Given the description of an element on the screen output the (x, y) to click on. 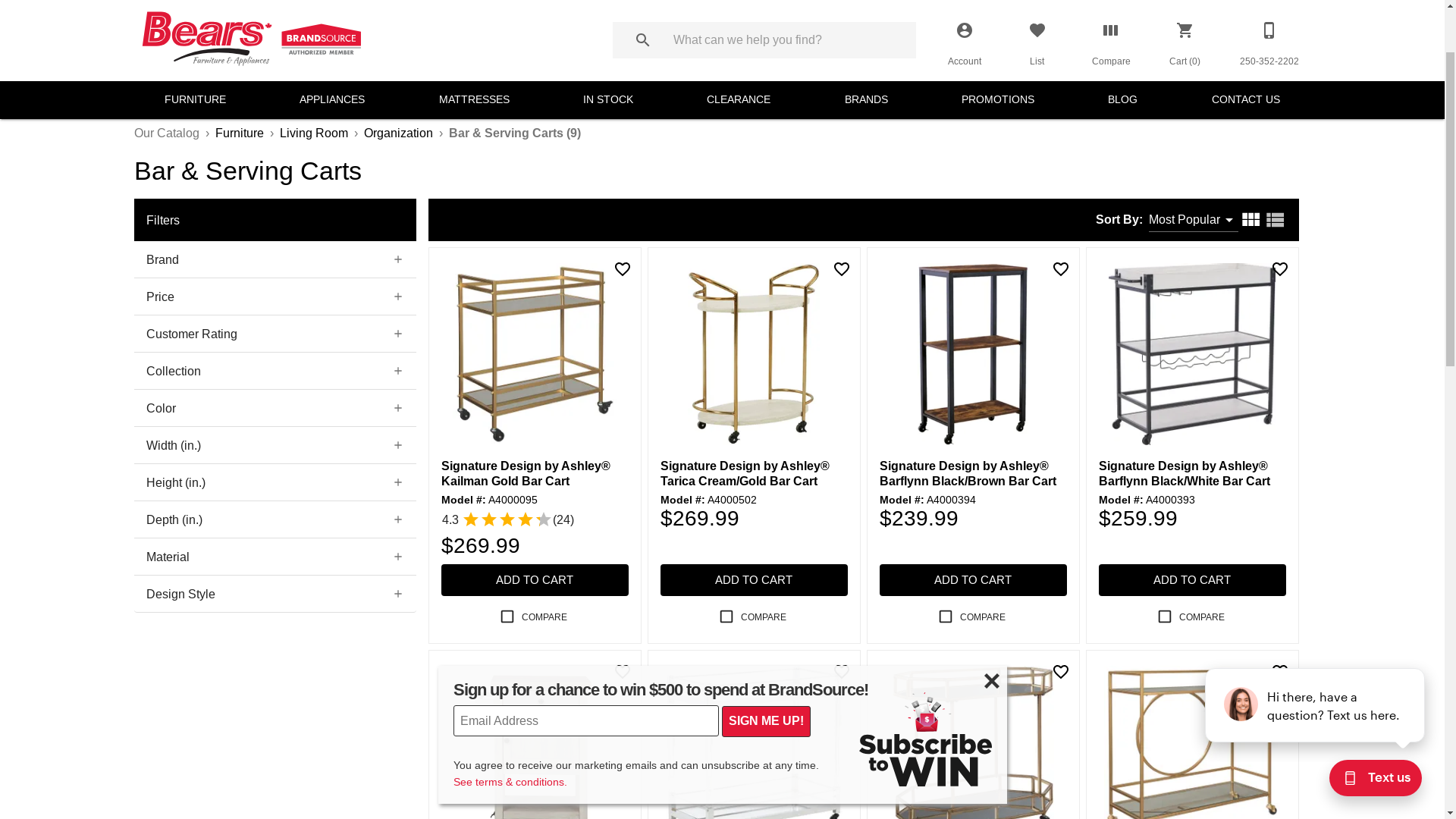
PROMOTIONS Element type: text (997, 208)
COMPARE Element type: text (1191, 724)
4.3
(24) Element type: text (507, 627)
Furniture Element type: text (239, 240)
ADD TO CART Element type: text (1191, 688)
MATTRESSES Element type: text (473, 208)
IN STOCK Element type: text (608, 208)
Living Room Element type: text (313, 240)
APPLIANCES Element type: text (331, 208)
FURNITURE Element type: text (195, 208)
List Element type: text (1037, 147)
COMPARE Element type: text (534, 724)
Cart (0) Element type: text (1184, 147)
Organization Element type: text (398, 240)
Compare Element type: text (1111, 147)
BRANDS Element type: text (866, 208)
ADD TO CART Element type: text (753, 688)
ADD TO CART Element type: text (534, 688)
COMPARE Element type: text (972, 724)
250-352-2202 Element type: text (1268, 147)
COMPARE Element type: text (753, 724)
CLEARANCE Element type: text (738, 208)
ADD TO CART Element type: text (972, 688)
CONTACT US Element type: text (1245, 208)
BLOG Element type: text (1122, 208)
